Given the description of an element on the screen output the (x, y) to click on. 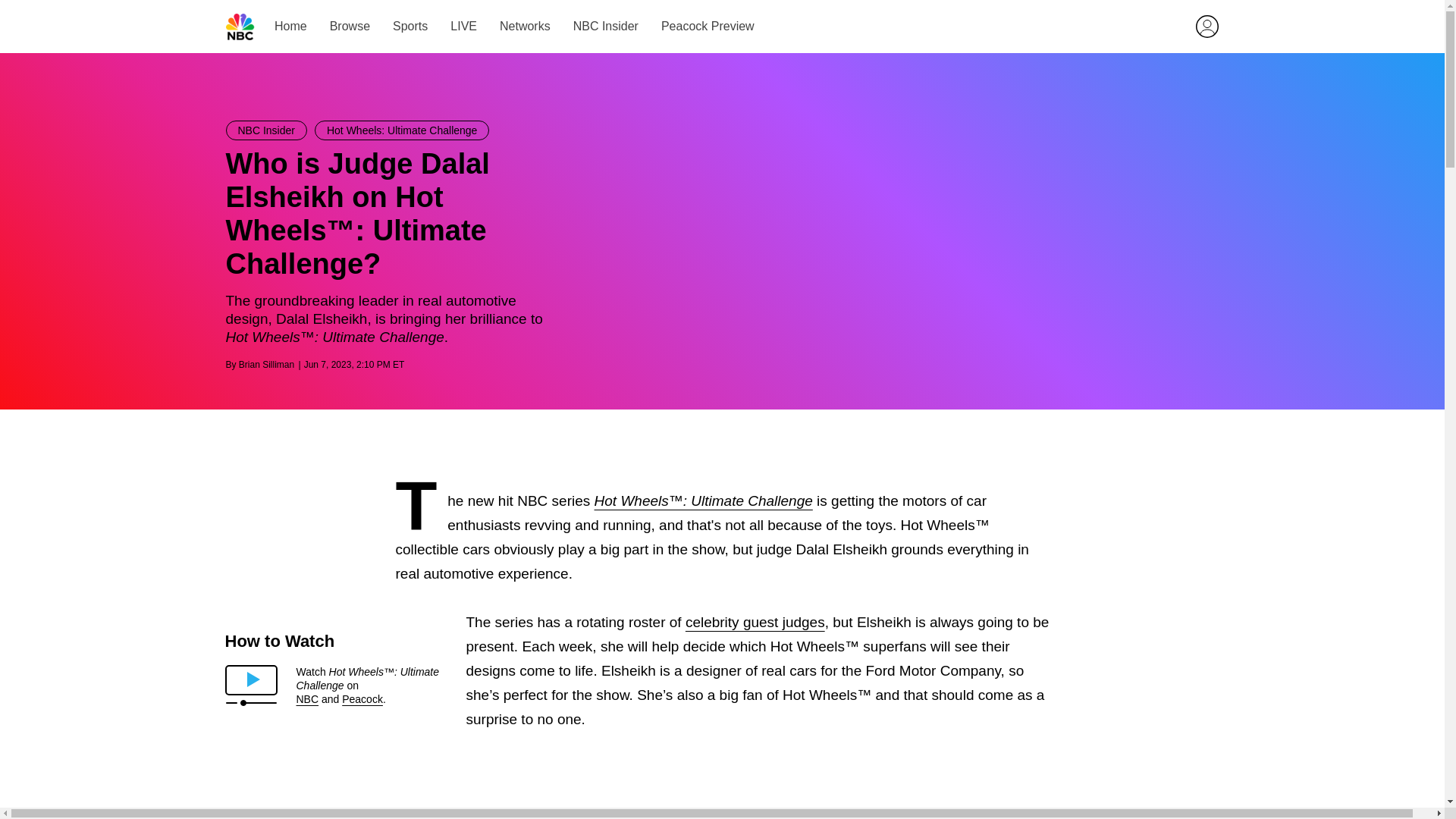
LIVE (463, 26)
Sports (410, 26)
NBC (239, 26)
Peacock Preview (707, 26)
NBC Insider (266, 130)
NBC (306, 698)
Hot Wheels: Ultimate Challenge (401, 130)
NBC Insider (604, 26)
YouTube video player (722, 798)
Peacock (362, 698)
Browse (349, 26)
Home (291, 26)
Brian Silliman (266, 364)
Networks (524, 26)
